Given the description of an element on the screen output the (x, y) to click on. 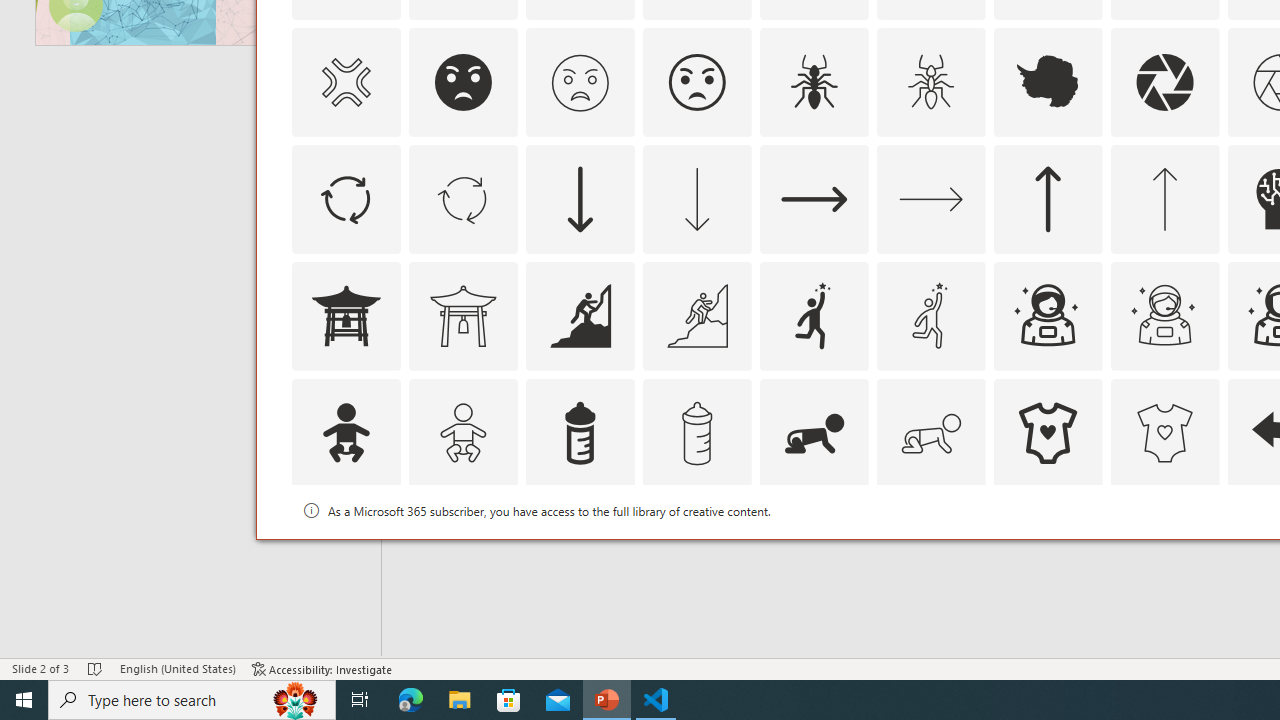
AutomationID: Icons_AngryFace_M (579, 82)
AutomationID: Icons_Badge5 (1164, 550)
